Given the description of an element on the screen output the (x, y) to click on. 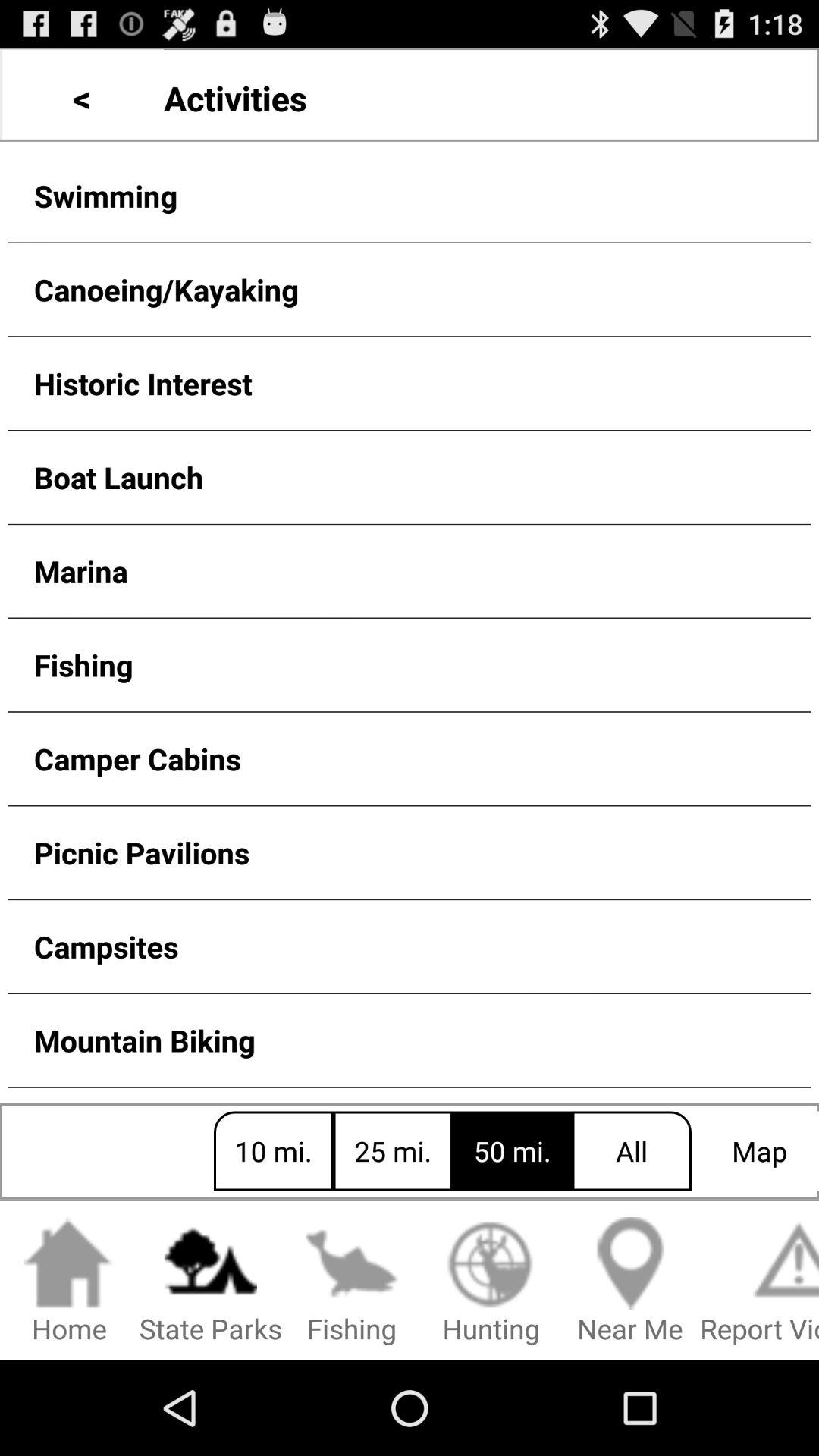
choose the item next to near me item (490, 1282)
